Given the description of an element on the screen output the (x, y) to click on. 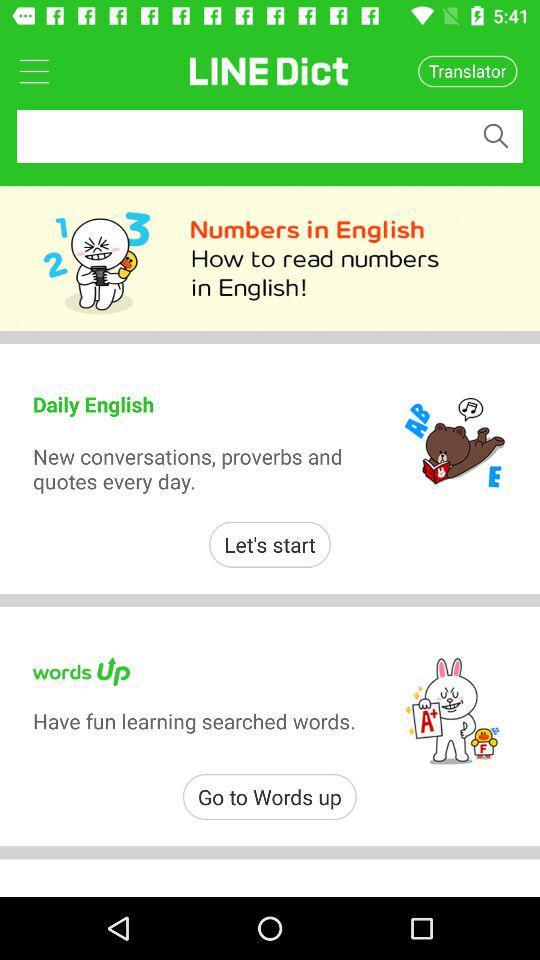
flip until the new conversations proverbs icon (197, 468)
